Given the description of an element on the screen output the (x, y) to click on. 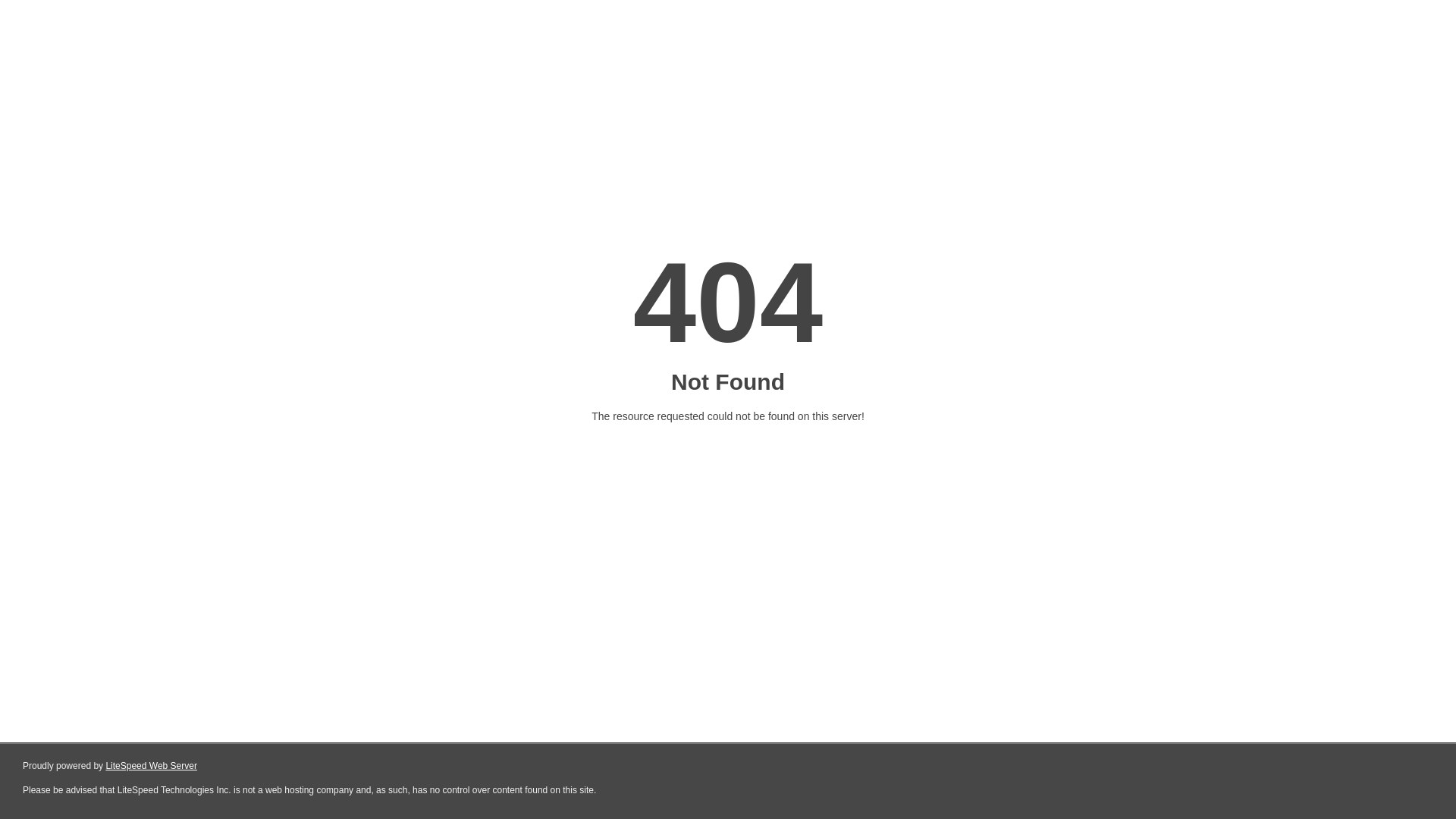
LiteSpeed Web Server Element type: text (151, 765)
